Given the description of an element on the screen output the (x, y) to click on. 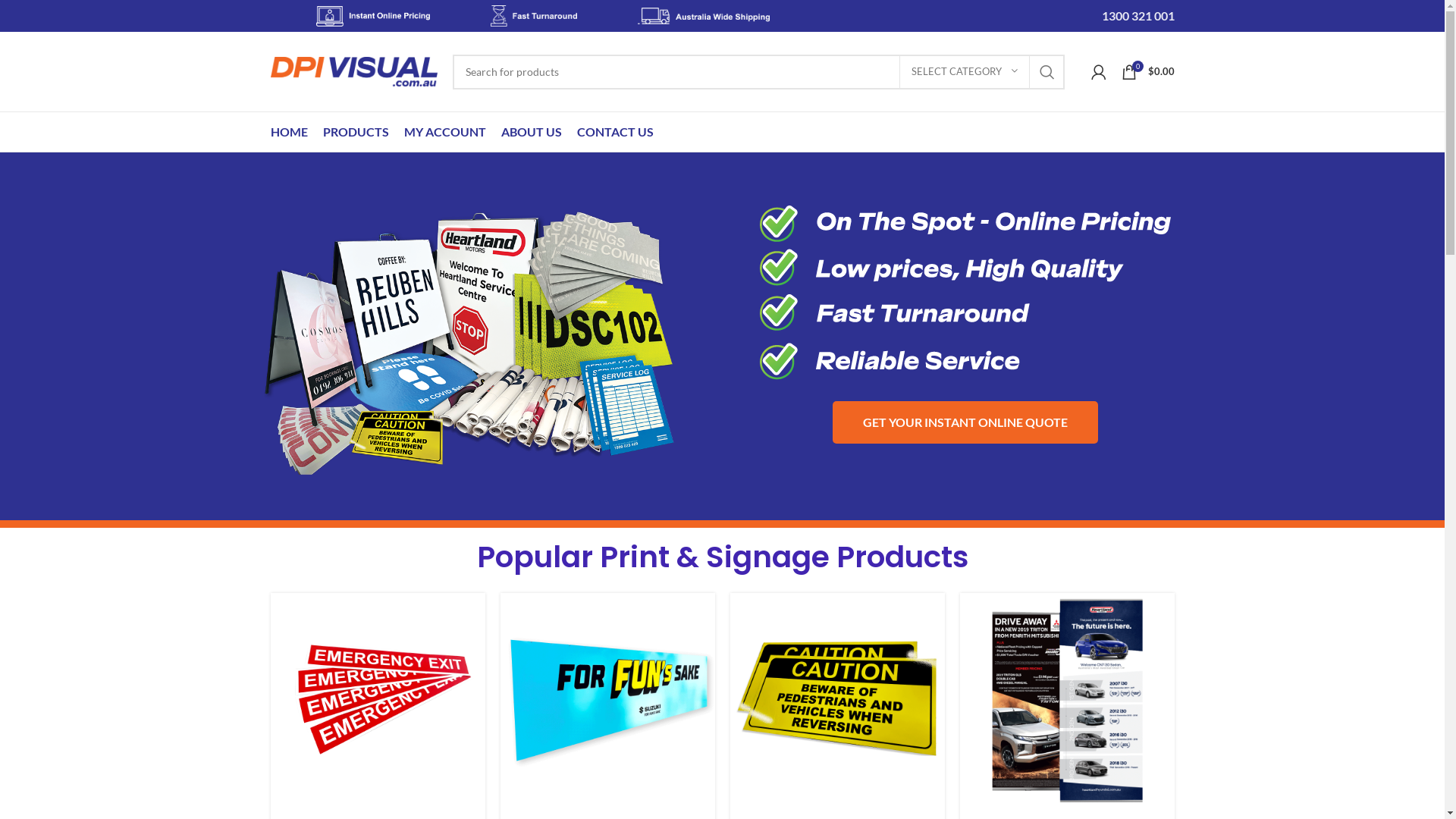
MY ACCOUNT Element type: text (444, 131)
GET YOUR INSTANT ONLINE QUOTE Element type: text (965, 422)
CONTACT US Element type: text (614, 131)
My account Element type: hover (1097, 71)
SELECT CATEGORY Element type: text (964, 71)
SEARCH Element type: text (1046, 71)
0
$0.00 Element type: text (1147, 71)
1300 321 001 Element type: text (1137, 16)
PRODUCTS Element type: text (356, 131)
ABOUT US Element type: text (530, 131)
Search for products Element type: hover (757, 71)
HOME Element type: text (288, 131)
